Given the description of an element on the screen output the (x, y) to click on. 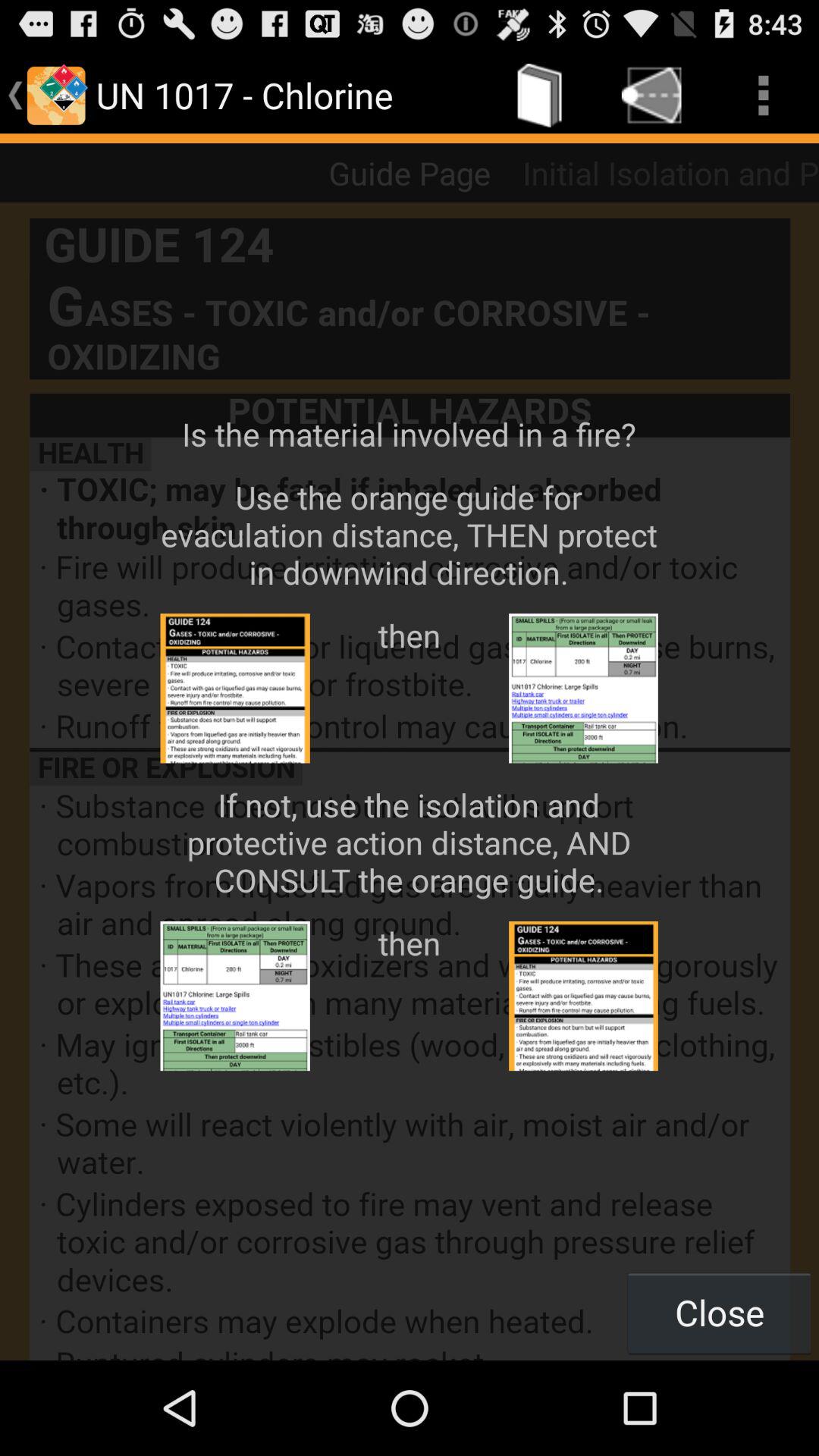
launch icon next to un 1017 - chlorine (540, 95)
